Given the description of an element on the screen output the (x, y) to click on. 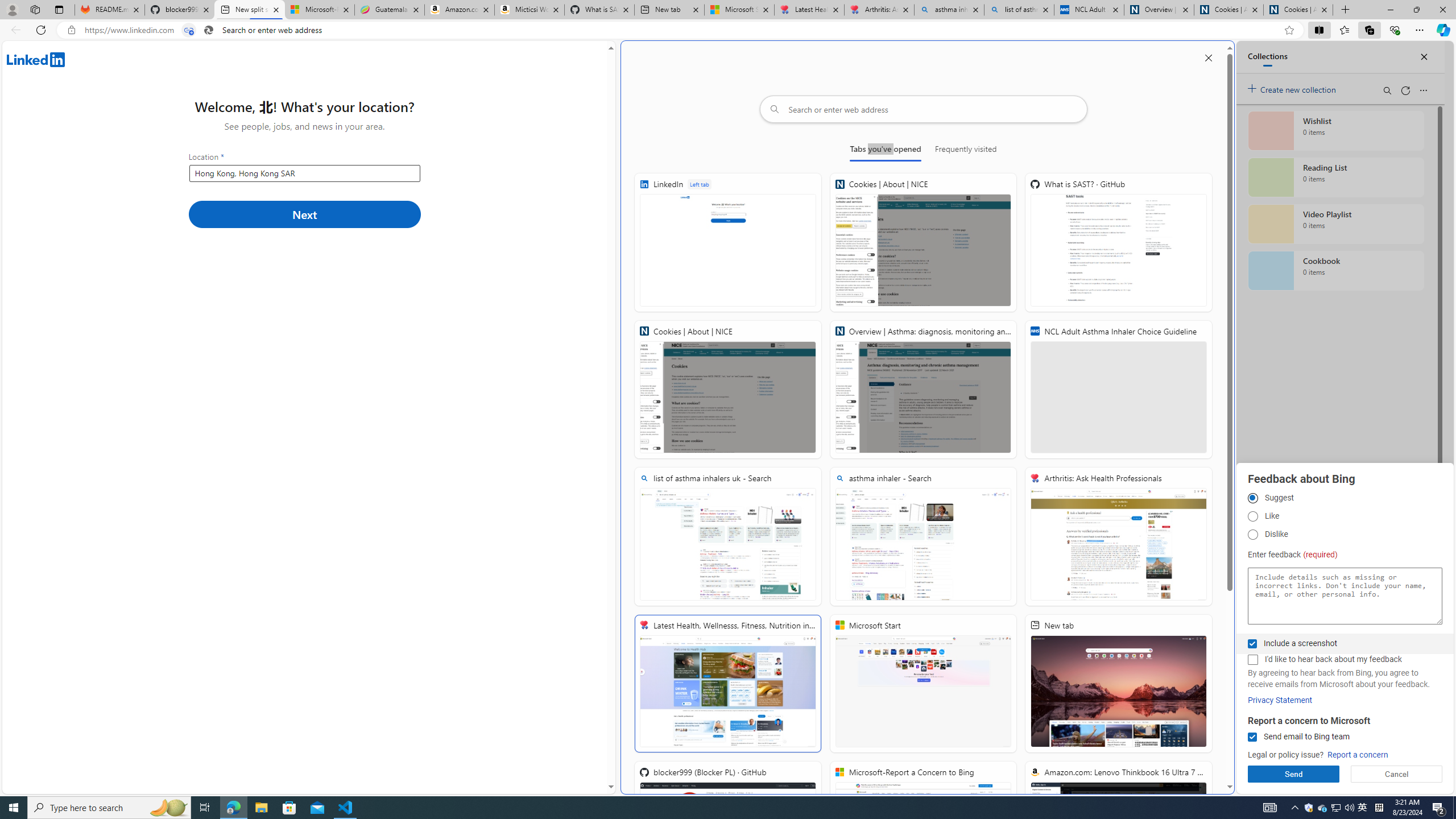
list of asthma inhalers uk - Search (727, 536)
Search icon (208, 29)
Cancel (1396, 773)
